Given the description of an element on the screen output the (x, y) to click on. 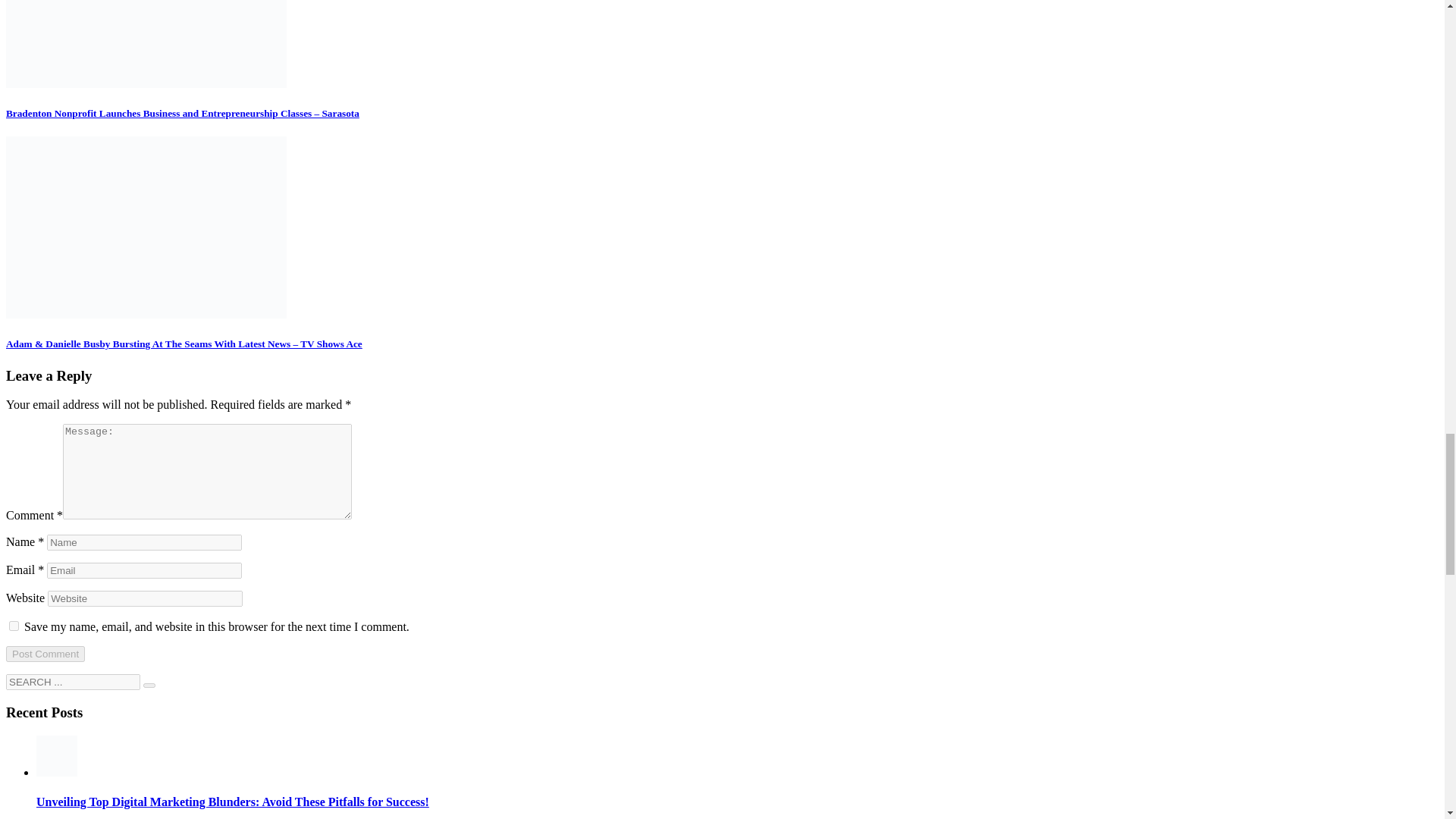
yes (13, 625)
Post Comment (44, 653)
